Given the description of an element on the screen output the (x, y) to click on. 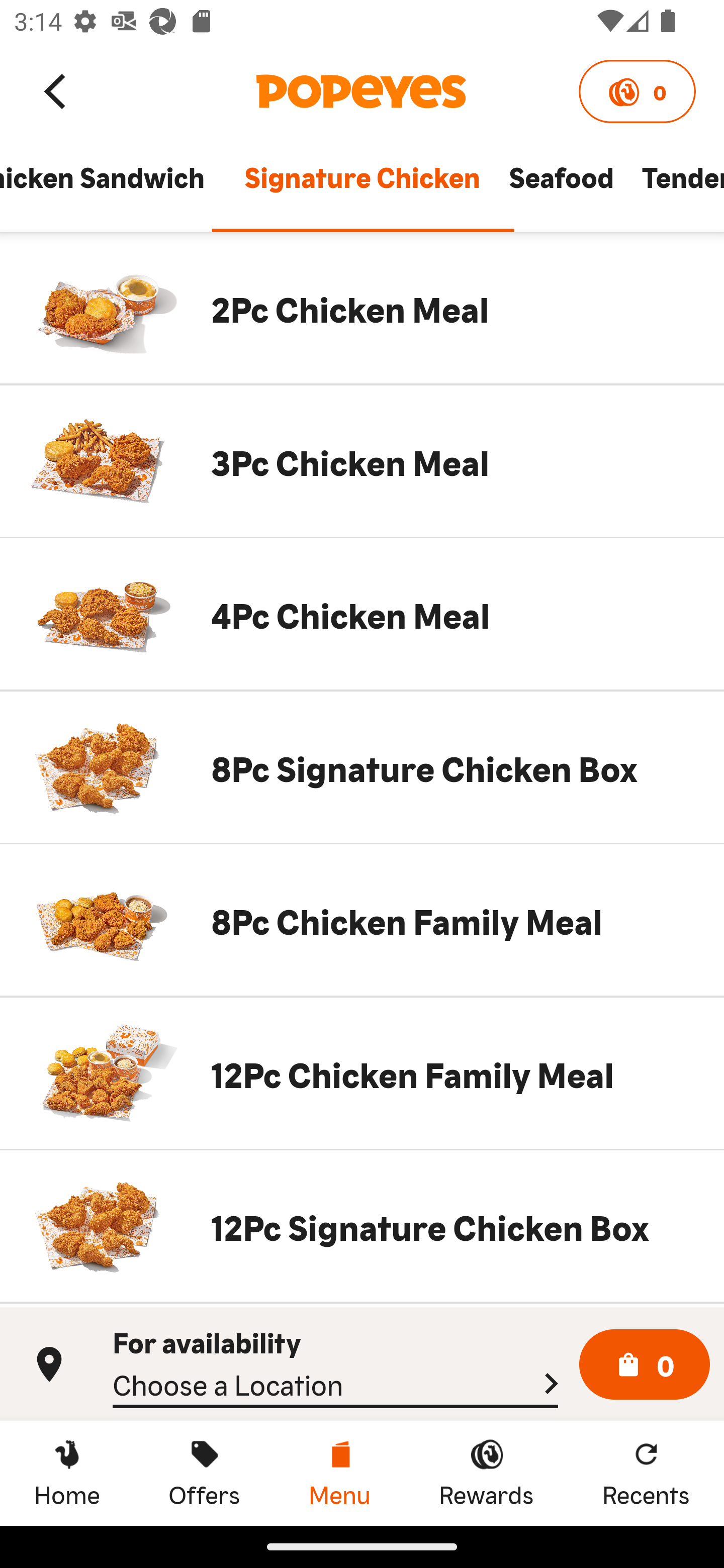
Back (56, 90)
0 Points 0 (636, 91)
Chicken Sandwich   (114, 186)
Signature Chicken (361, 186)
Seafood (560, 186)
0 Cart total  0 (644, 1364)
Home Home Home (66, 1472)
Offers Offers Offers (203, 1472)
Menu, current page Menu Menu, current page (339, 1472)
Rewards Rewards Rewards (486, 1472)
Recents Recents Recents (646, 1472)
